Given the description of an element on the screen output the (x, y) to click on. 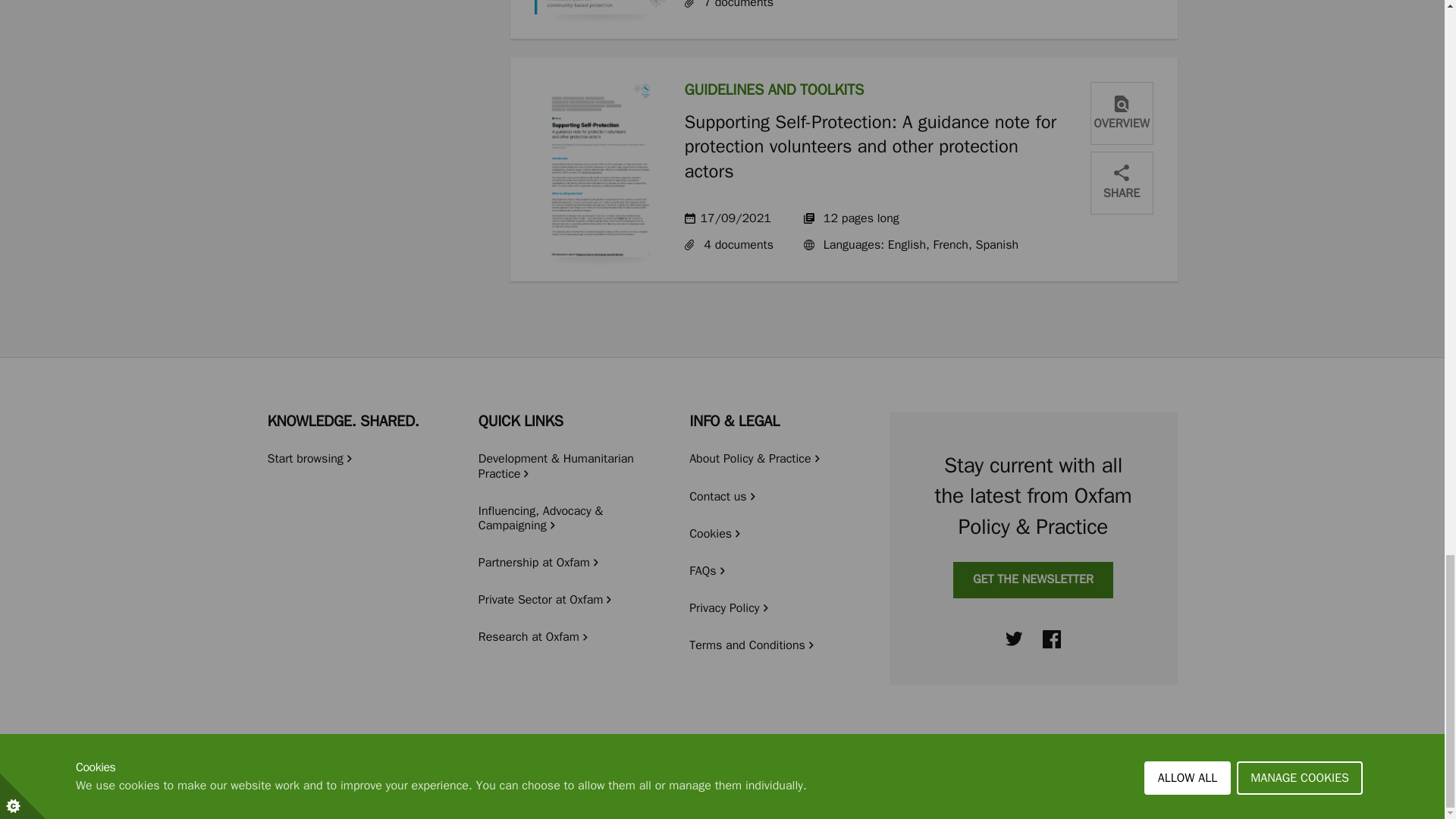
Get the newsletter (1032, 579)
